Given the description of an element on the screen output the (x, y) to click on. 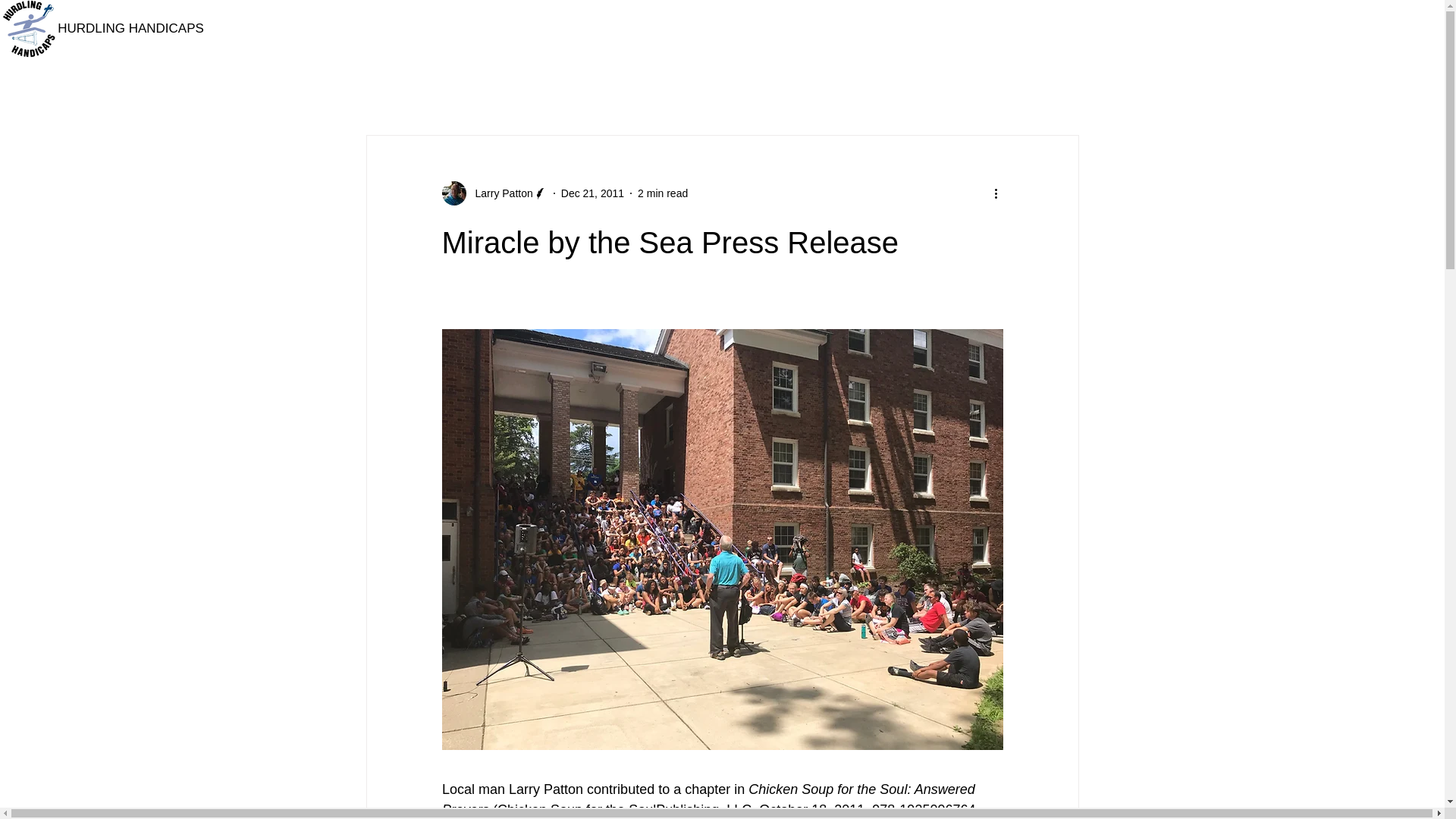
Larry Patton (498, 192)
HURDLING HANDICAPS (130, 27)
Dec 21, 2011 (592, 192)
Larry Patton (494, 192)
2 min read (662, 192)
